Given the description of an element on the screen output the (x, y) to click on. 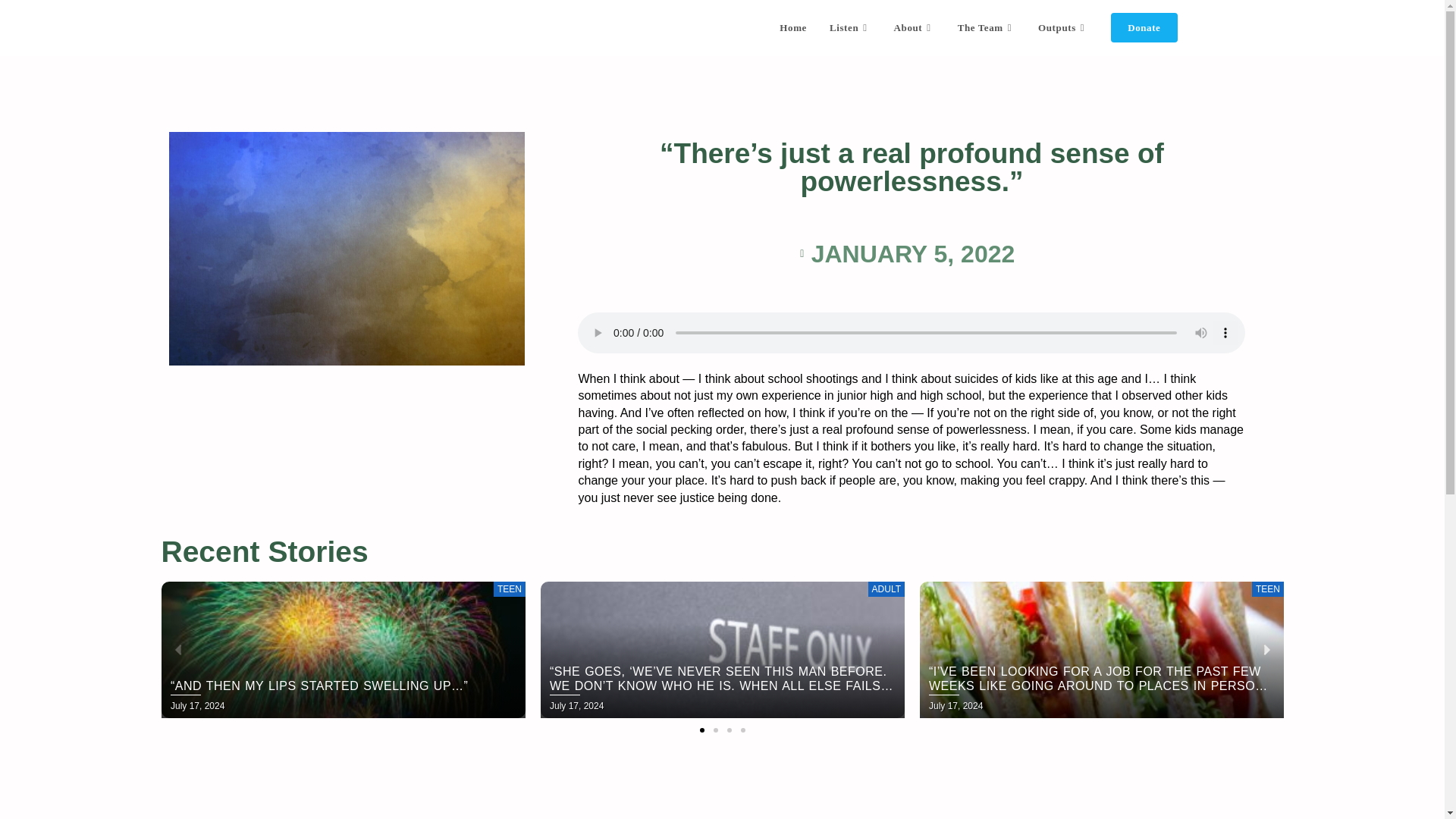
Home (793, 28)
Outputs (1062, 28)
Donate (1143, 28)
The Team (986, 28)
Listen (850, 28)
About (914, 28)
